Given the description of an element on the screen output the (x, y) to click on. 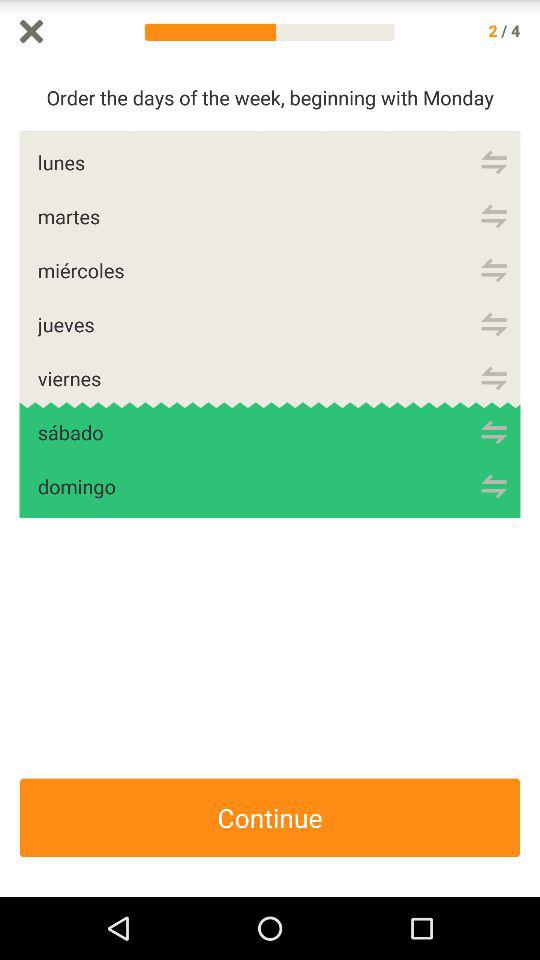
adjust order (494, 486)
